Given the description of an element on the screen output the (x, y) to click on. 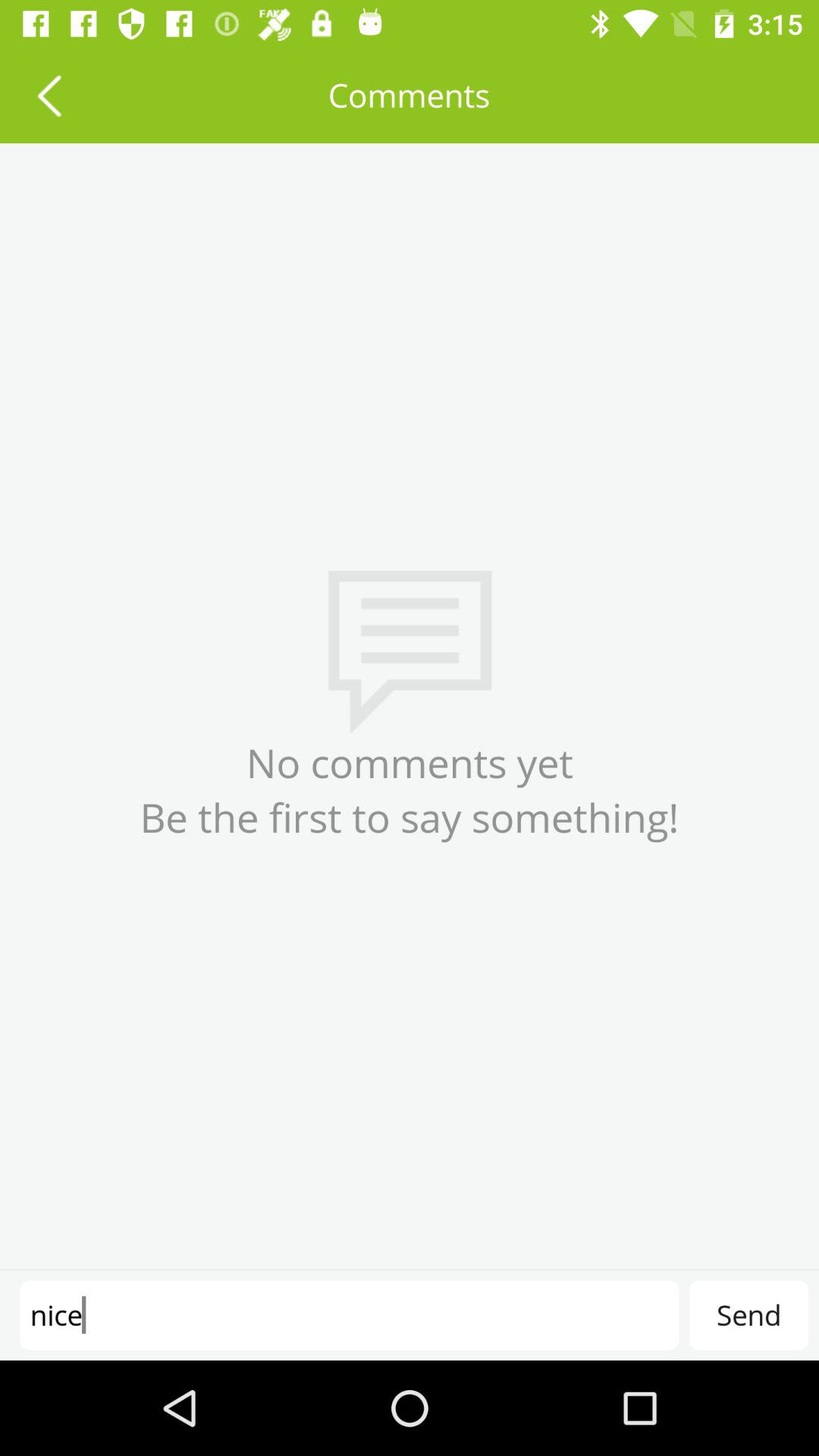
launch the send item (748, 1315)
